Given the description of an element on the screen output the (x, y) to click on. 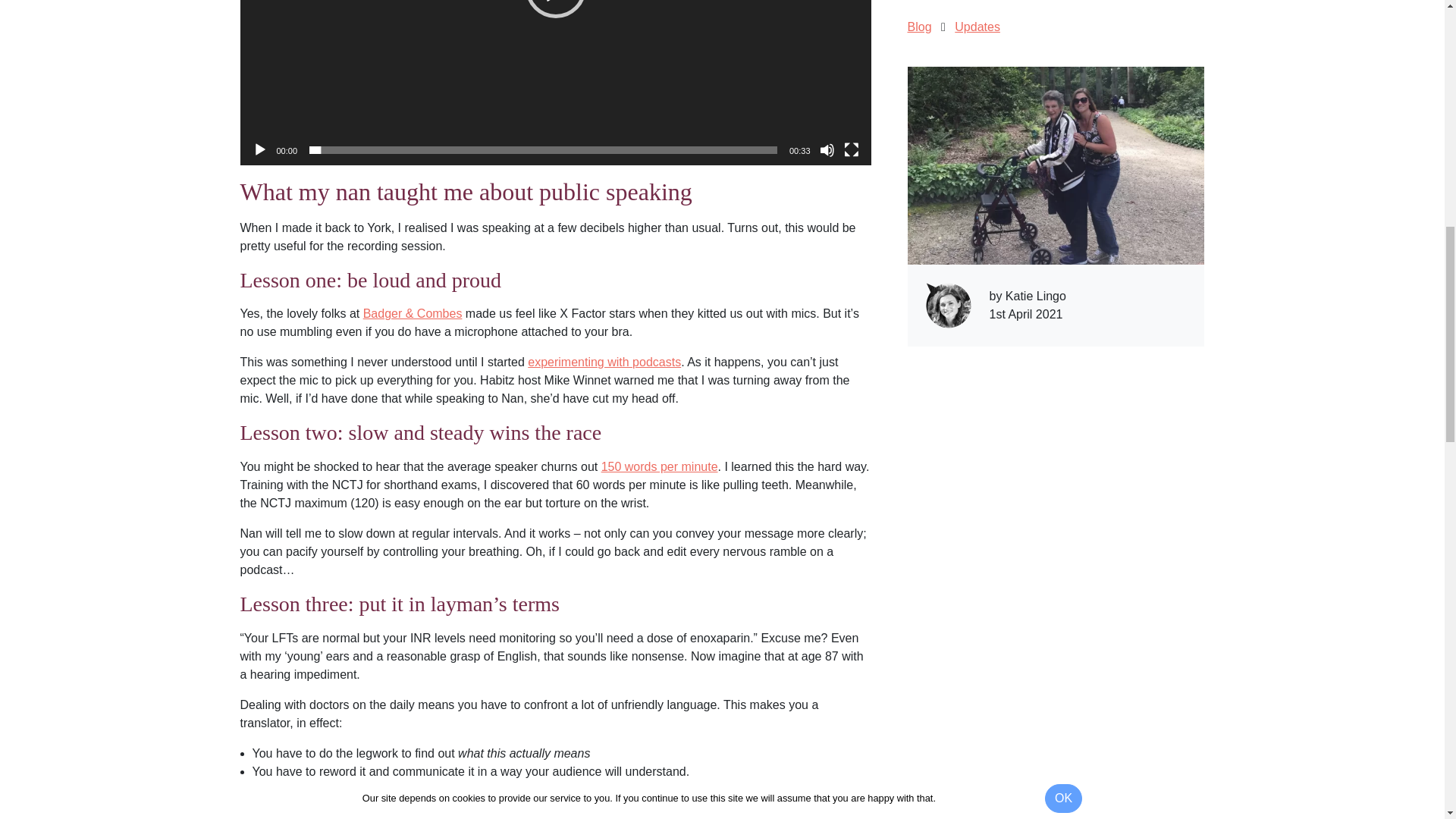
Mute (826, 150)
Fullscreen (851, 150)
Play (258, 150)
